Given the description of an element on the screen output the (x, y) to click on. 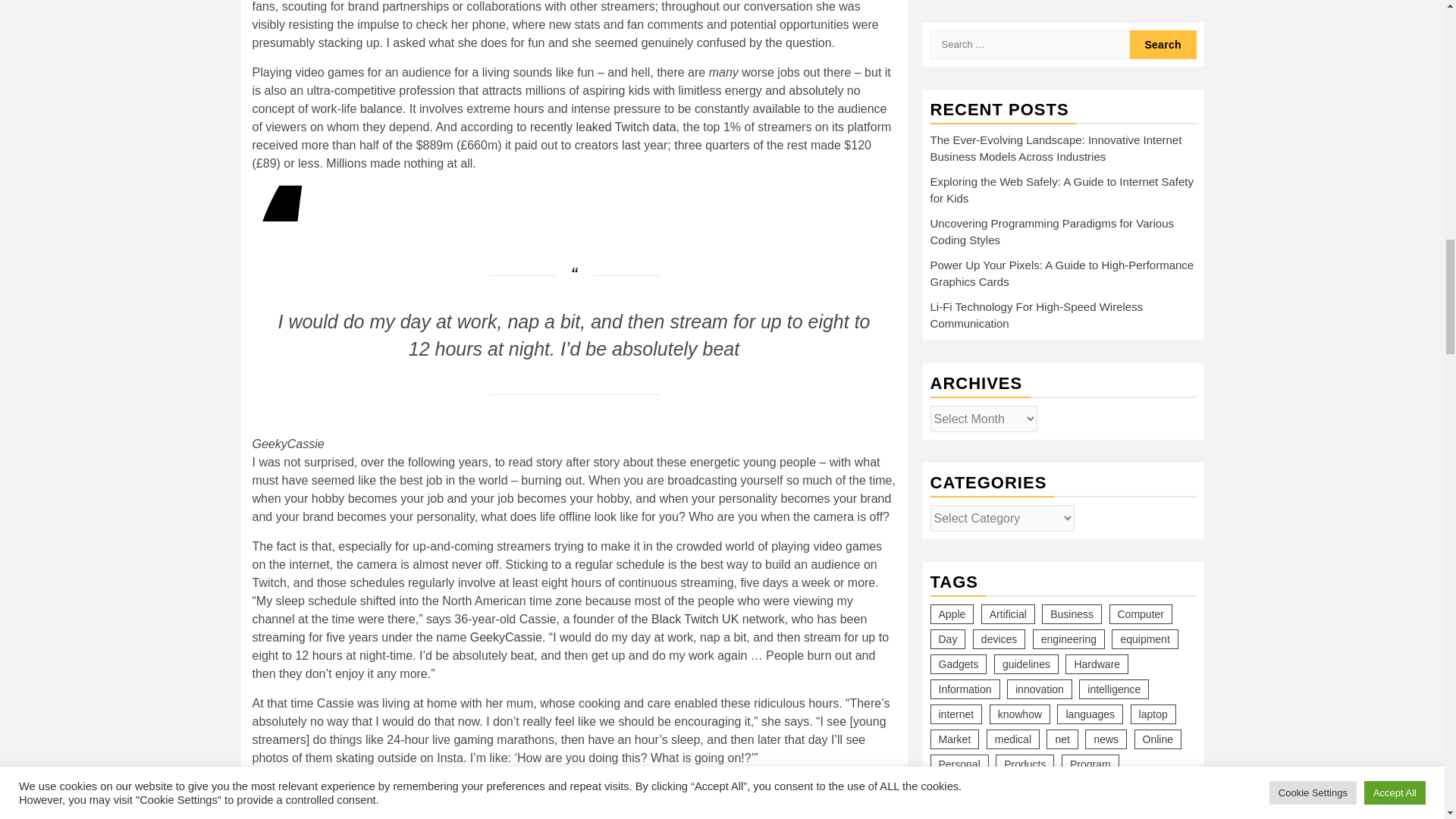
Black Twitch UK (694, 618)
recently leaked Twitch data (603, 126)
GeekyCassie (505, 636)
